Given the description of an element on the screen output the (x, y) to click on. 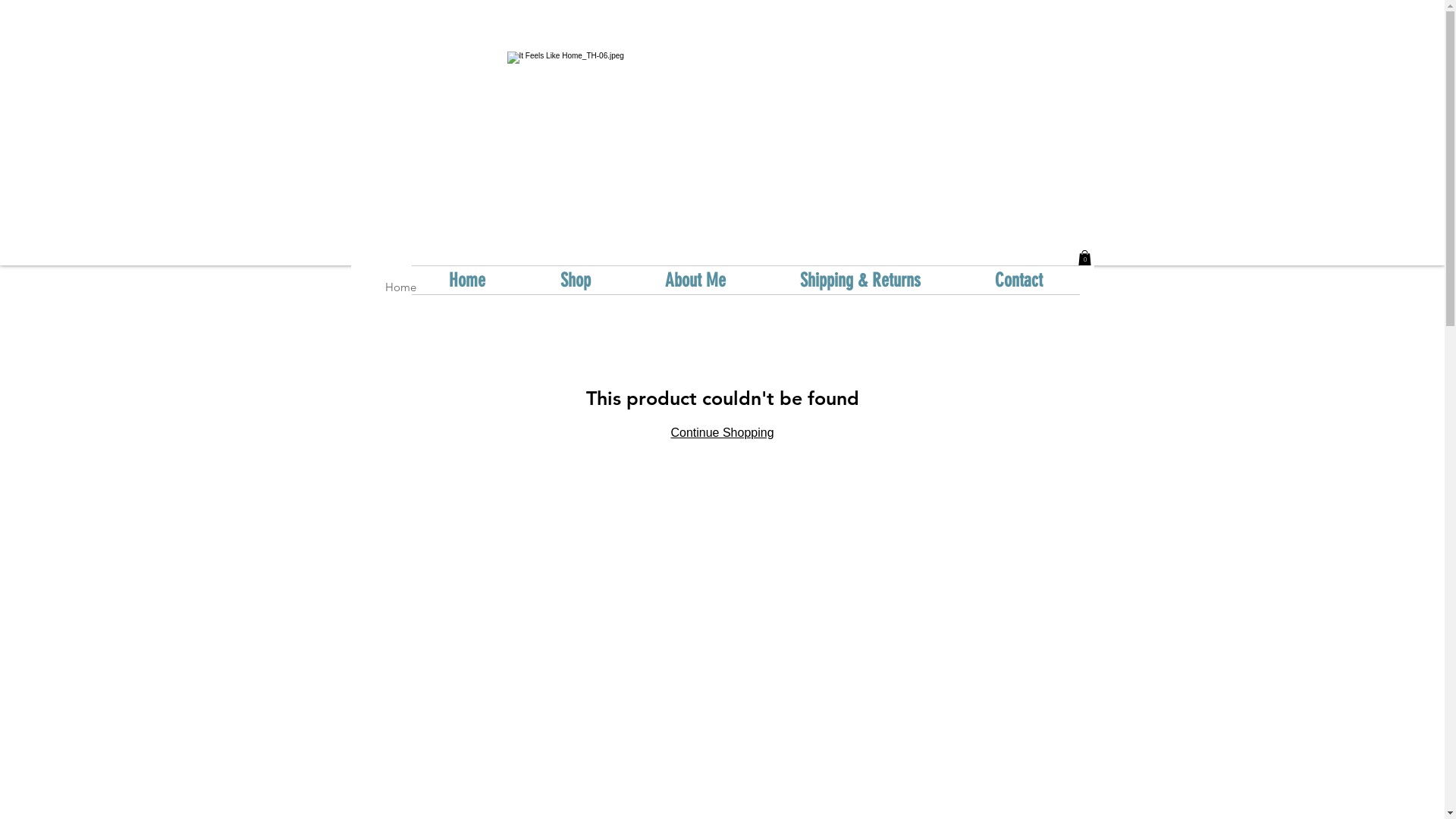
Home Element type: text (400, 286)
Home Element type: text (466, 280)
Shipping & Returns Element type: text (859, 280)
0 Element type: text (1084, 257)
Shop Element type: text (575, 280)
Continue Shopping Element type: text (721, 432)
Contact Element type: text (1018, 280)
About Me Element type: text (694, 280)
